Given the description of an element on the screen output the (x, y) to click on. 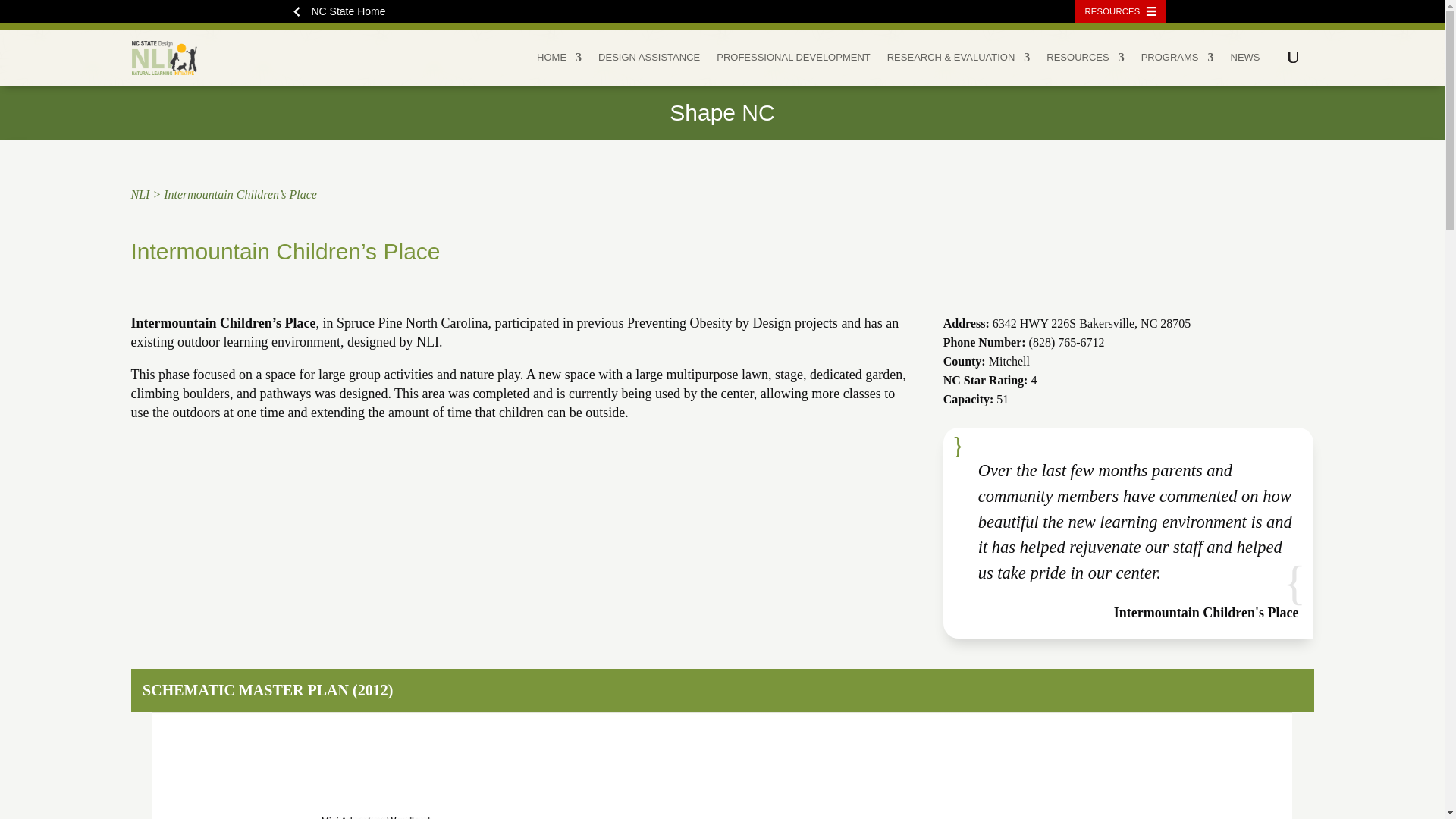
Go to NLI. (140, 194)
RESOURCES (1120, 11)
NC State Home (342, 11)
HOME (558, 66)
